Given the description of an element on the screen output the (x, y) to click on. 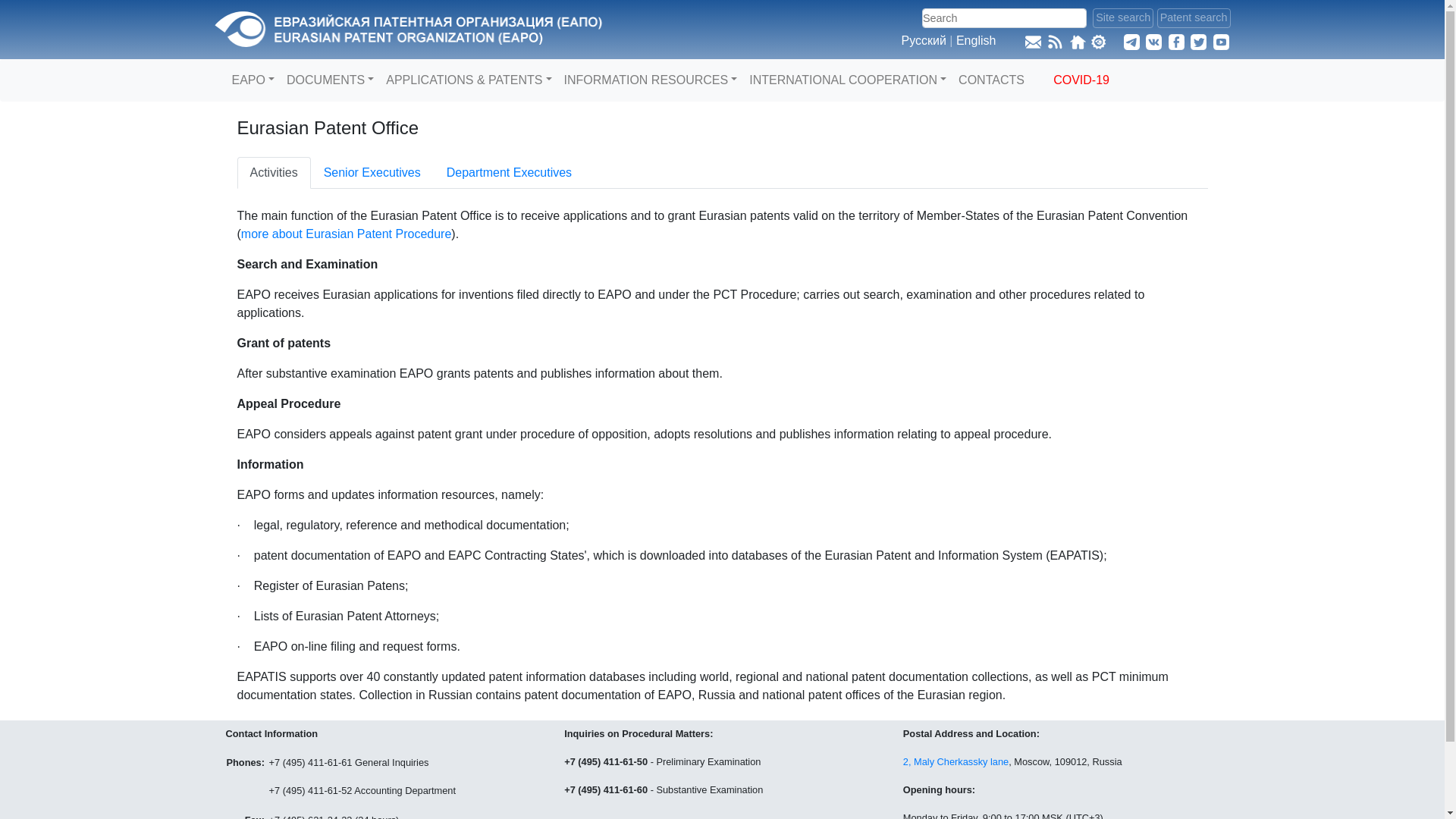
EAPO (253, 80)
VK (1153, 40)
eapo.mobile (1104, 40)
Site search (1123, 17)
YouTube (1220, 40)
Patent search (1193, 17)
Telegram (1131, 40)
RSS (1054, 40)
DOCUMENTS (330, 80)
Email (1032, 40)
